Given the description of an element on the screen output the (x, y) to click on. 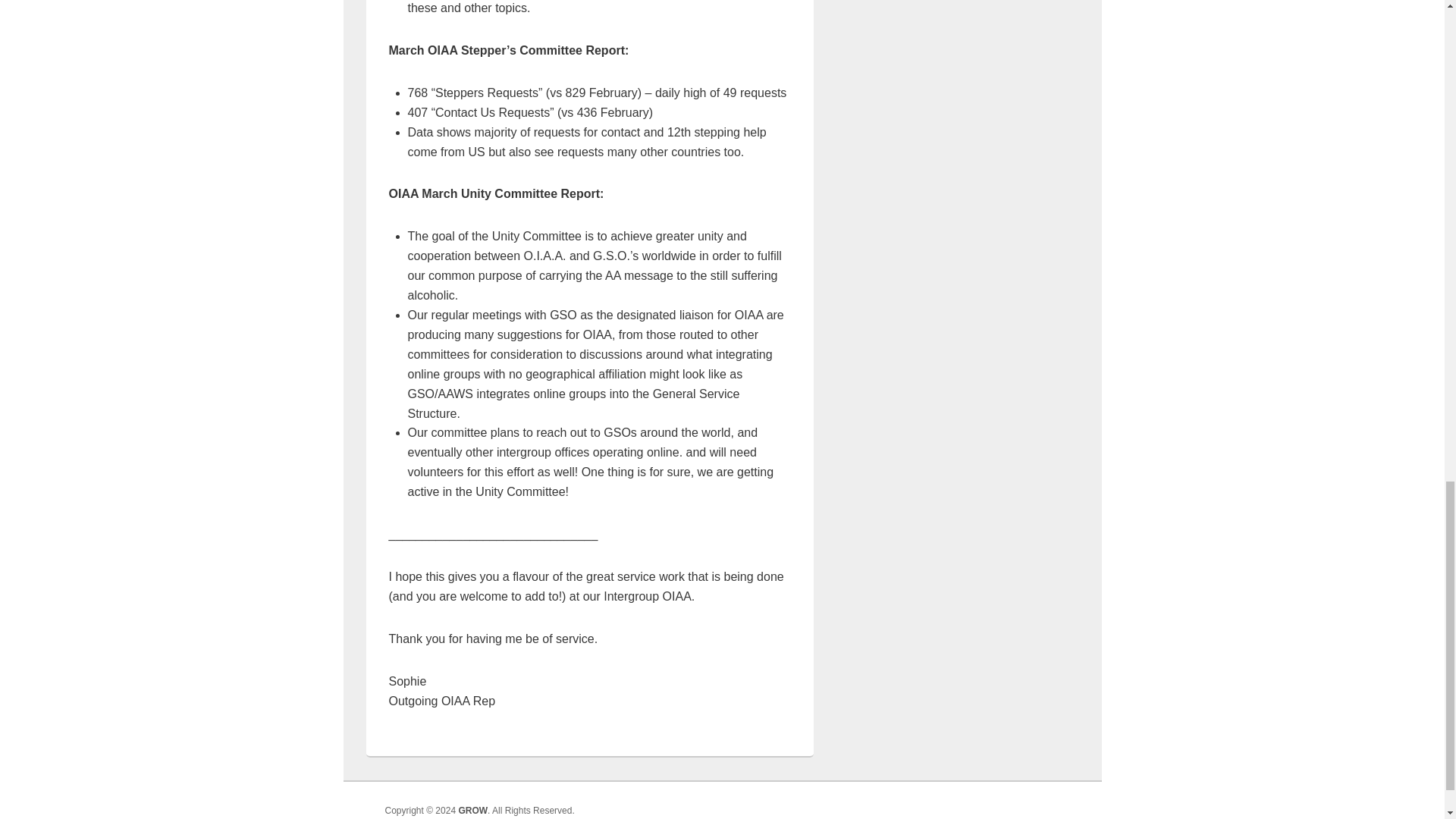
GROW (472, 810)
